Given the description of an element on the screen output the (x, y) to click on. 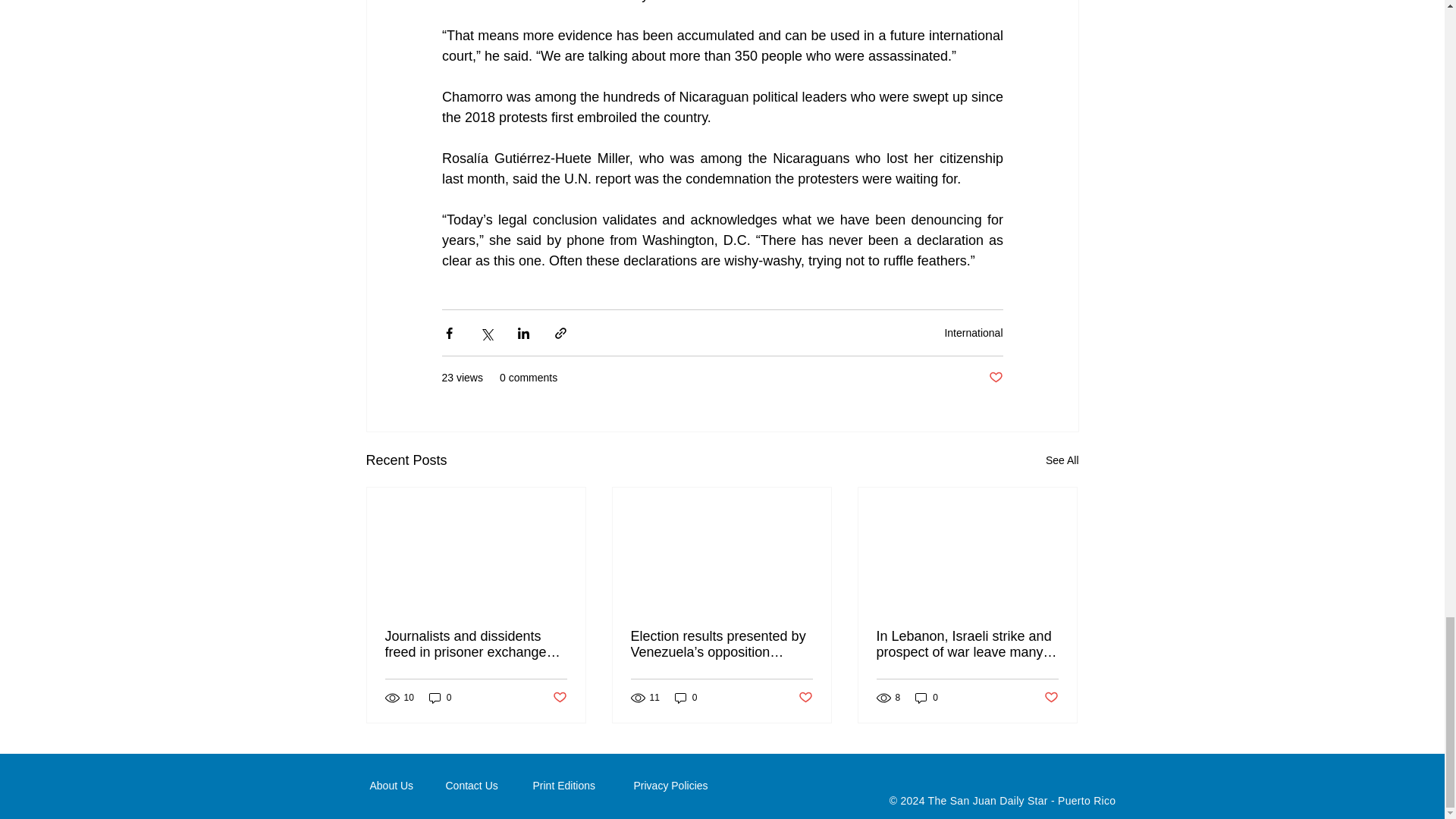
0 (685, 698)
See All (1061, 460)
Post not marked as liked (995, 377)
0 (440, 698)
International (973, 332)
Post not marked as liked (558, 697)
